Given the description of an element on the screen output the (x, y) to click on. 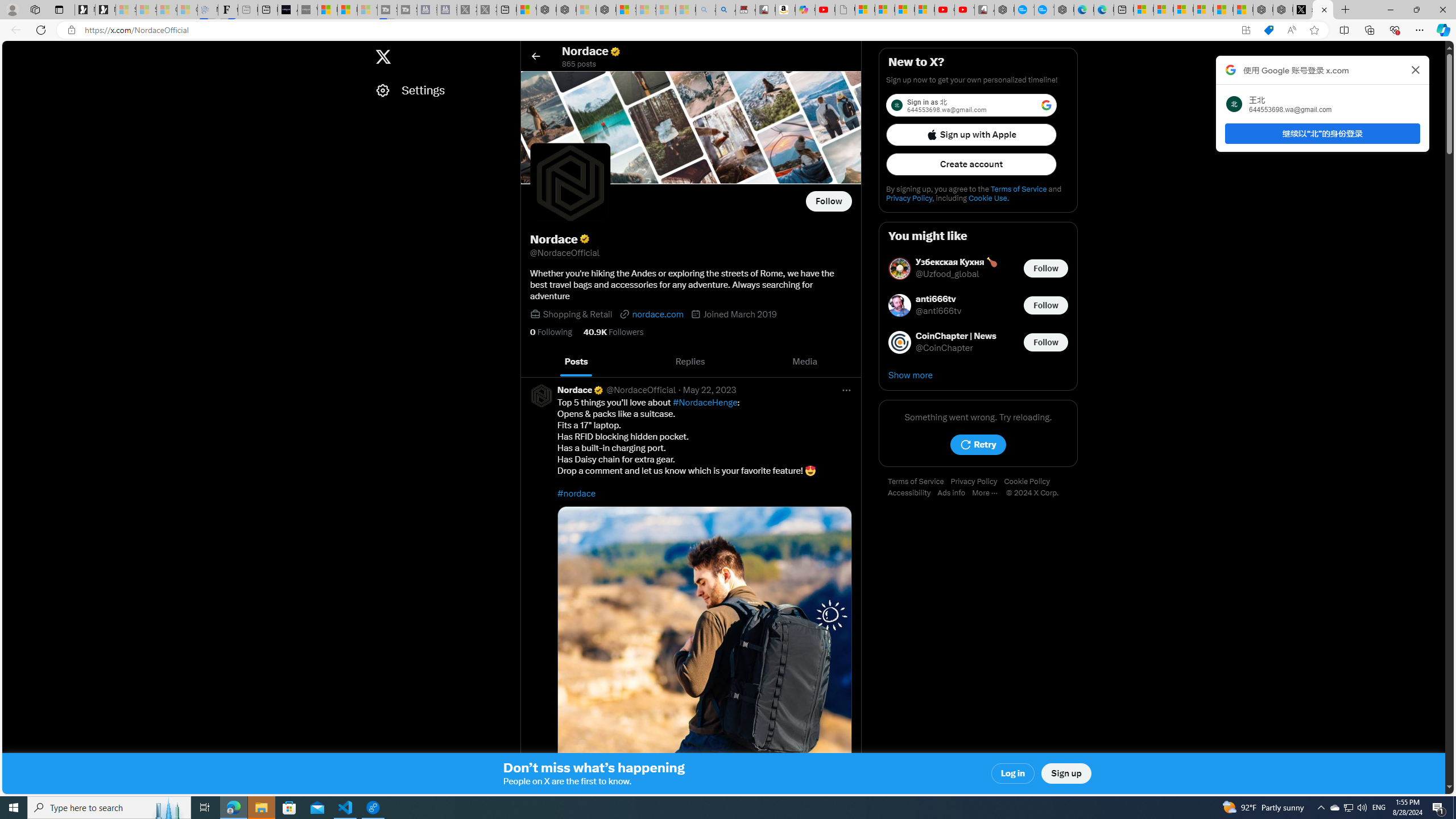
Show more (978, 375)
Terms of Service (919, 481)
Verified account (598, 389)
Class: LgbsSe-Bz112c (1046, 104)
Replies (689, 361)
nordace.com (651, 313)
Cookie Use. (988, 198)
Sign up with Apple (971, 134)
